Given the description of an element on the screen output the (x, y) to click on. 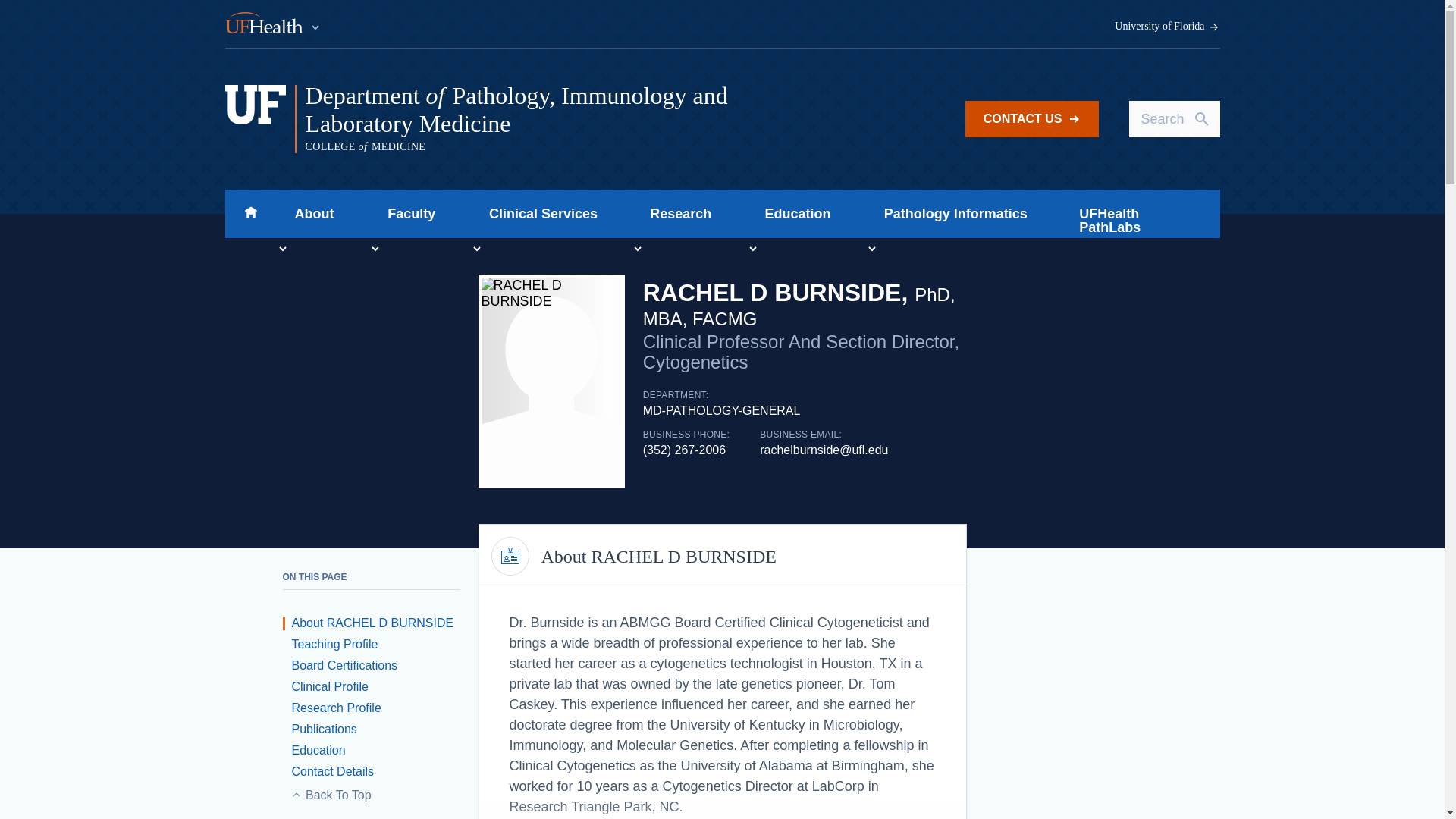
University of Florida (1167, 26)
About (309, 213)
CONTACT US (1032, 118)
UF Health (272, 24)
Research (675, 213)
Faculty (406, 213)
Home (250, 213)
Clinical Services (538, 213)
